Given the description of an element on the screen output the (x, y) to click on. 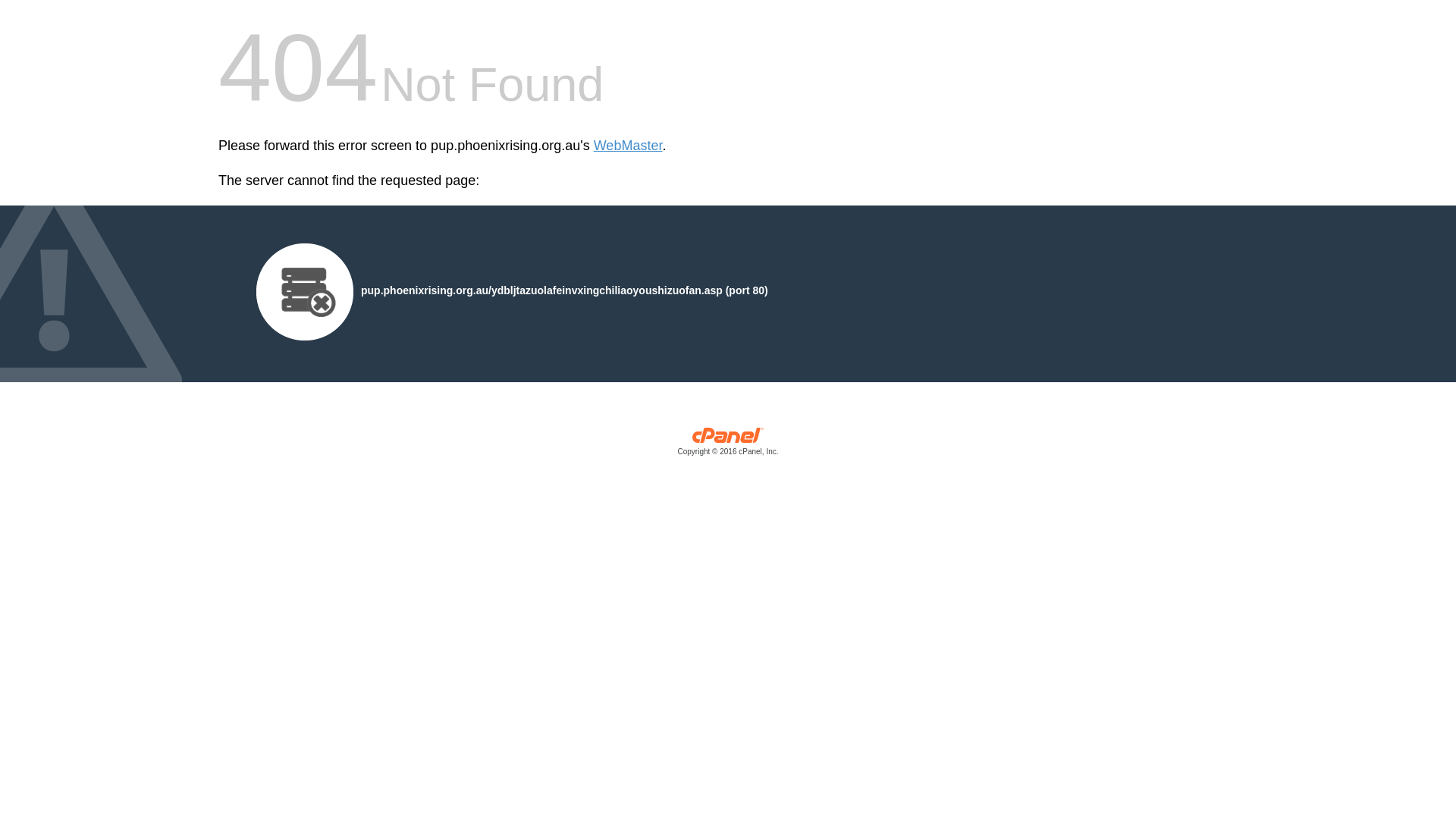
WebMaster Element type: text (627, 145)
